Given the description of an element on the screen output the (x, y) to click on. 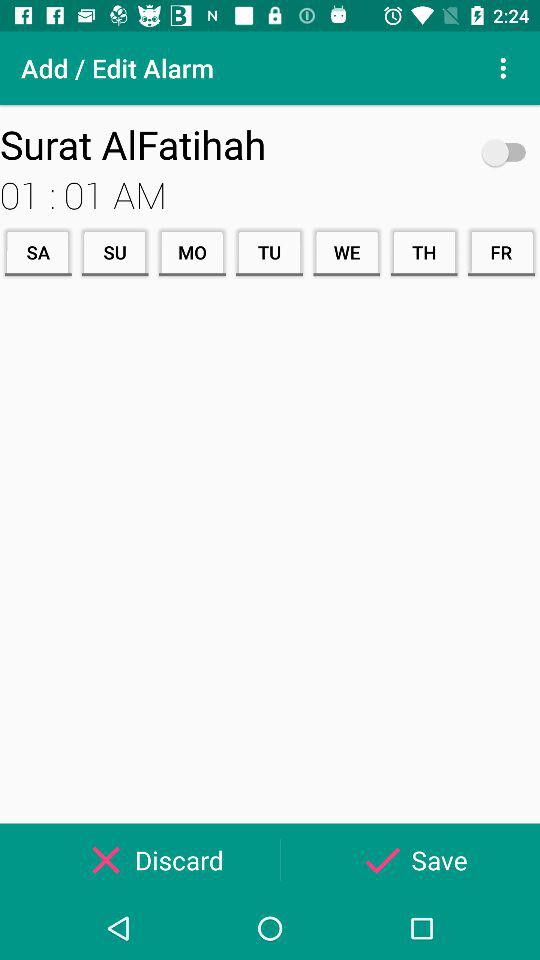
click the item next to su icon (191, 251)
